Given the description of an element on the screen output the (x, y) to click on. 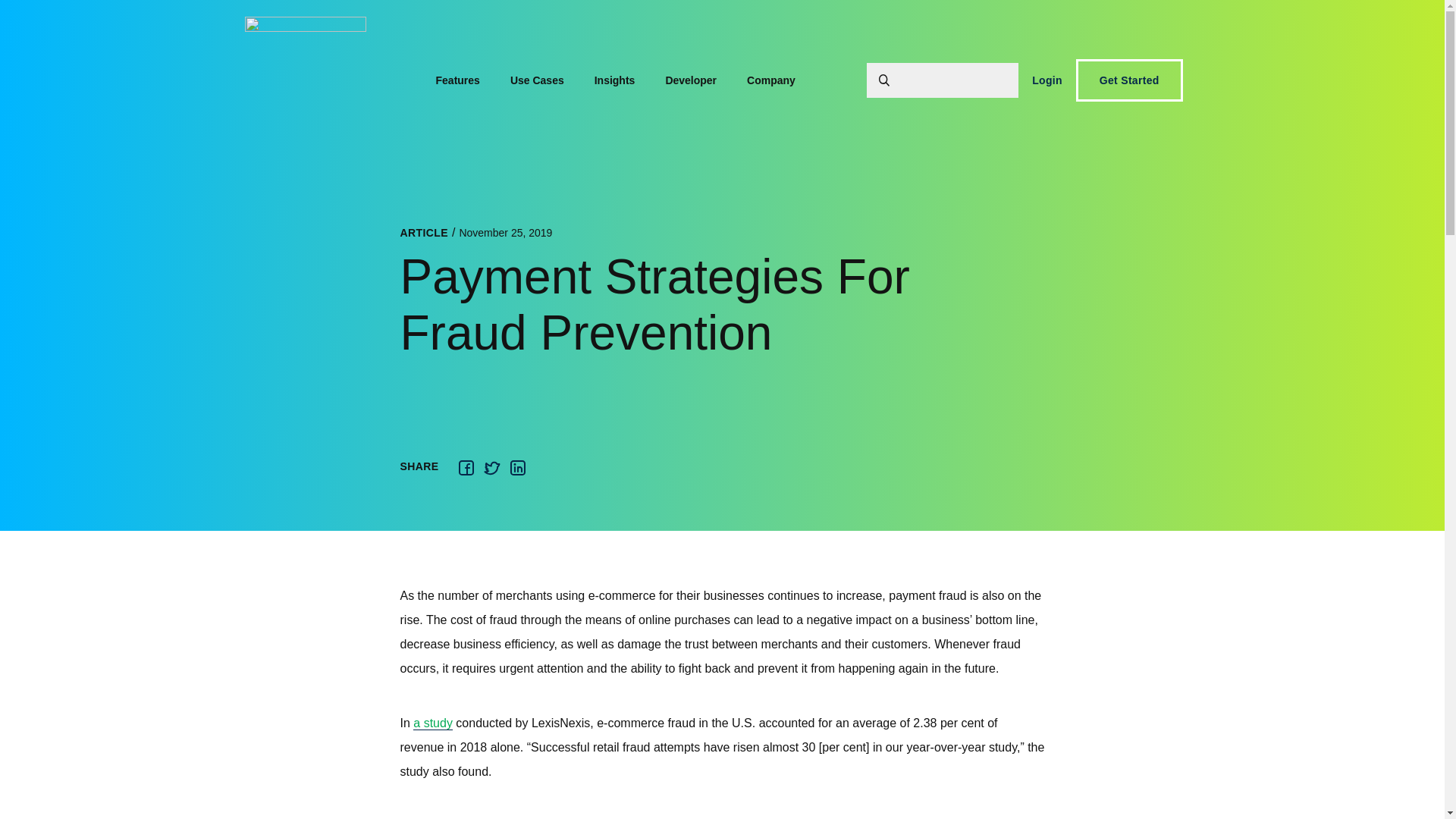
Insights (614, 80)
Use Cases (537, 80)
Developer (690, 80)
Features (457, 80)
Company (771, 80)
